Given the description of an element on the screen output the (x, y) to click on. 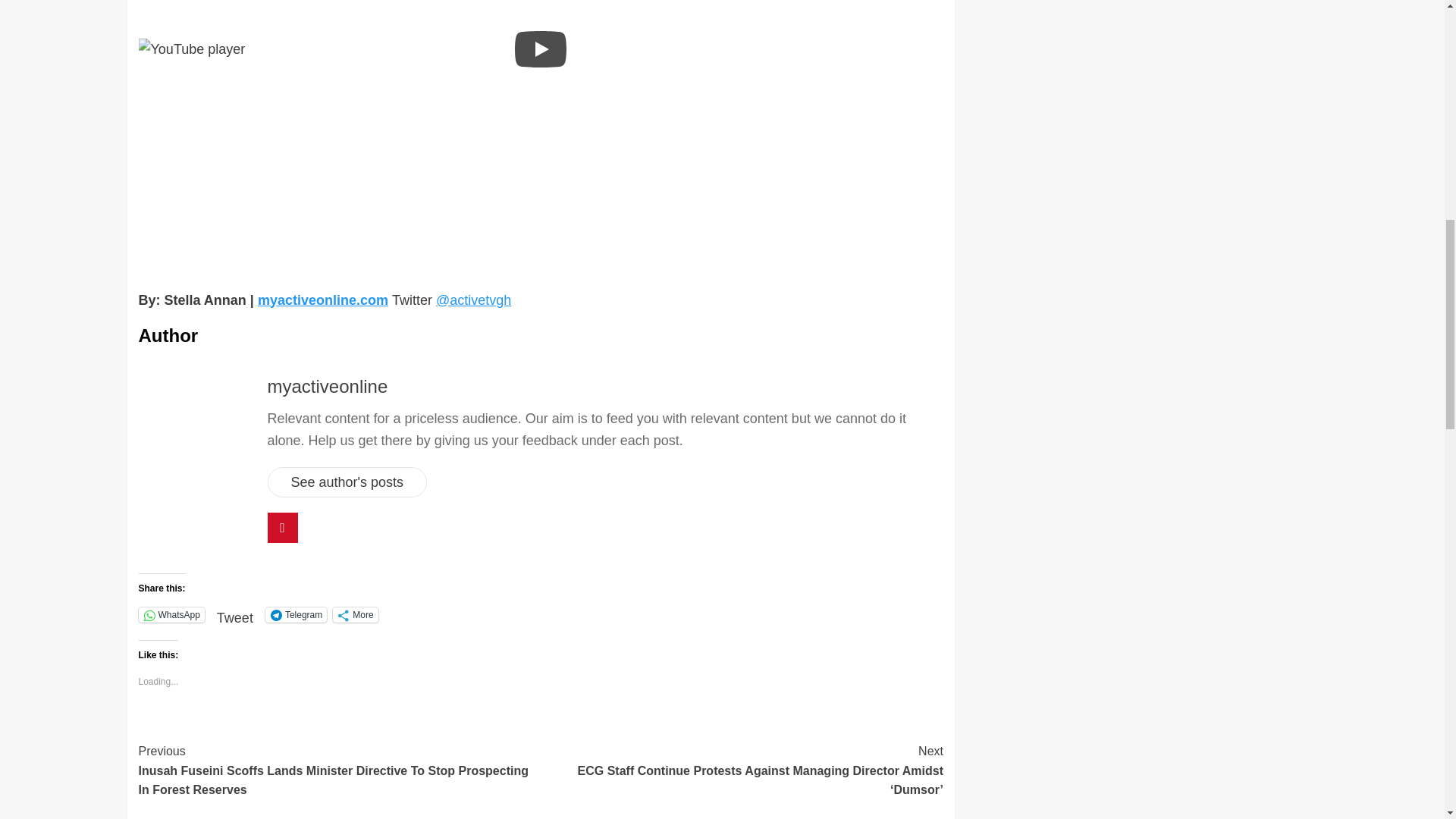
Click to share on WhatsApp (170, 614)
Tweet (234, 610)
WhatsApp (170, 614)
Click to share on Telegram (295, 614)
myactiveonline (326, 385)
See author's posts (346, 481)
myactiveonline.com (322, 299)
More (355, 614)
Telegram (295, 614)
